Given the description of an element on the screen output the (x, y) to click on. 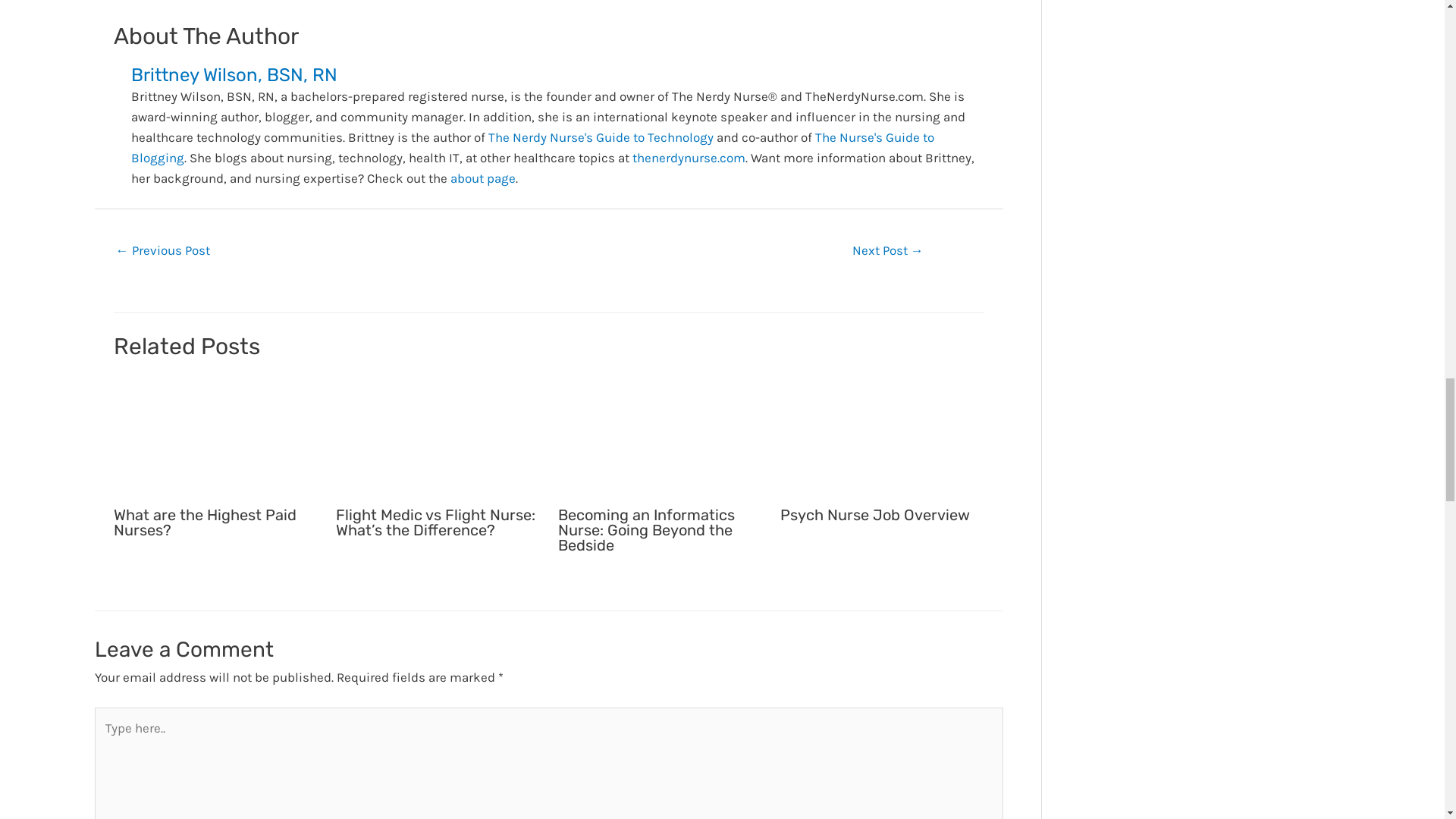
The Nurse's Guide to Blogging (532, 147)
What are the highest paid nurses? 2 (215, 437)
Flight medic vs flight nurse: what's the difference? 3 (437, 437)
Becoming an informatics nurse: going beyond the bedside 4 (659, 437)
thenerdynurse.com (688, 157)
The Nerdy Nurse's Guide to Technology (600, 136)
Getting Your BLS Certification Online - Tips For Nurses (162, 251)
Psych nurse job overview 5 (882, 437)
